Given the description of an element on the screen output the (x, y) to click on. 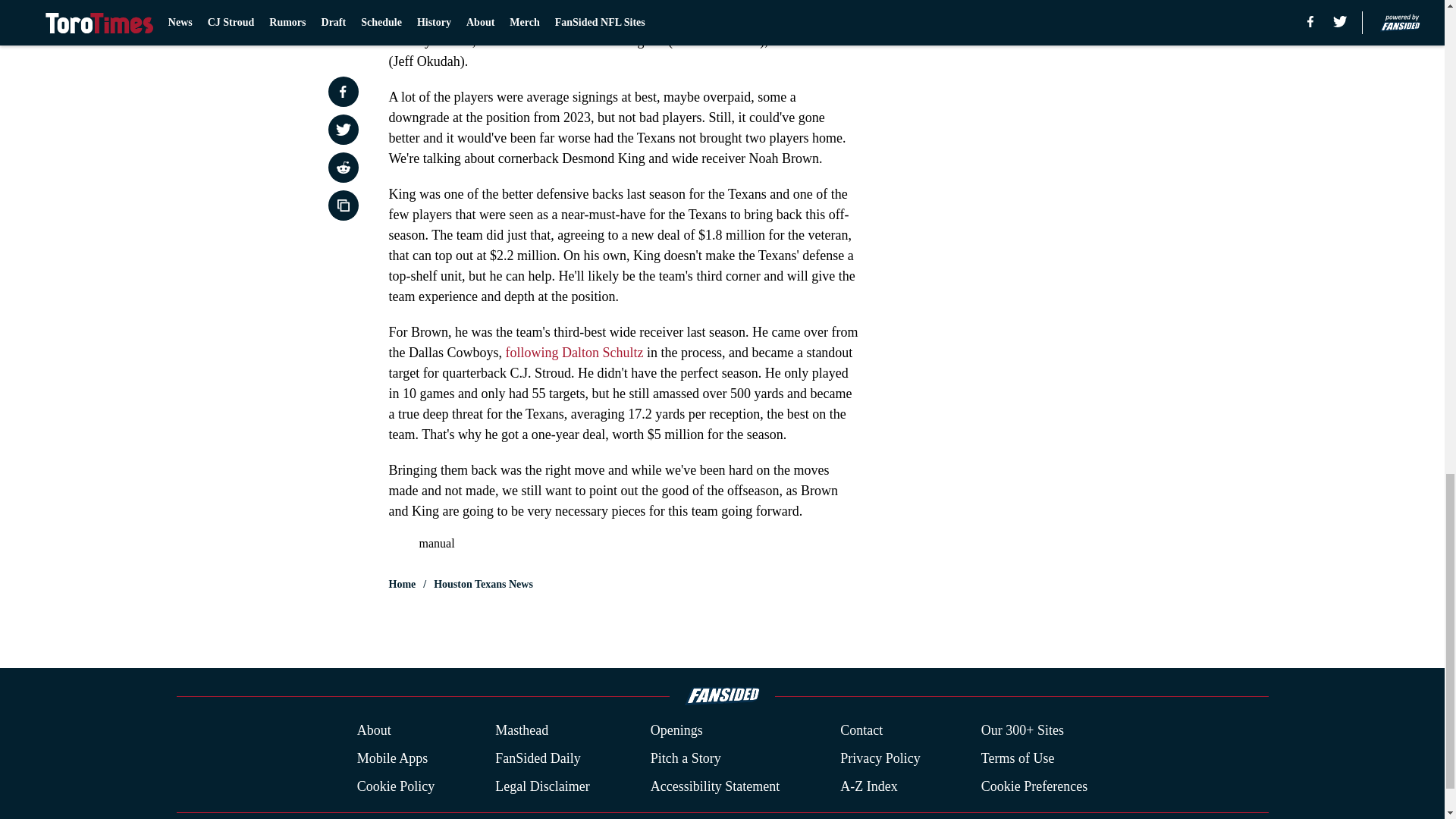
Terms of Use (1017, 758)
Privacy Policy (880, 758)
Cookie Policy (395, 786)
Pitch a Story (685, 758)
Home (401, 584)
Contact (861, 730)
A-Z Index (868, 786)
Cookie Preferences (1034, 786)
Openings (676, 730)
Legal Disclaimer (542, 786)
Houston Texans News (482, 584)
Masthead (521, 730)
Mobile Apps (392, 758)
FanSided Daily (537, 758)
About (373, 730)
